Given the description of an element on the screen output the (x, y) to click on. 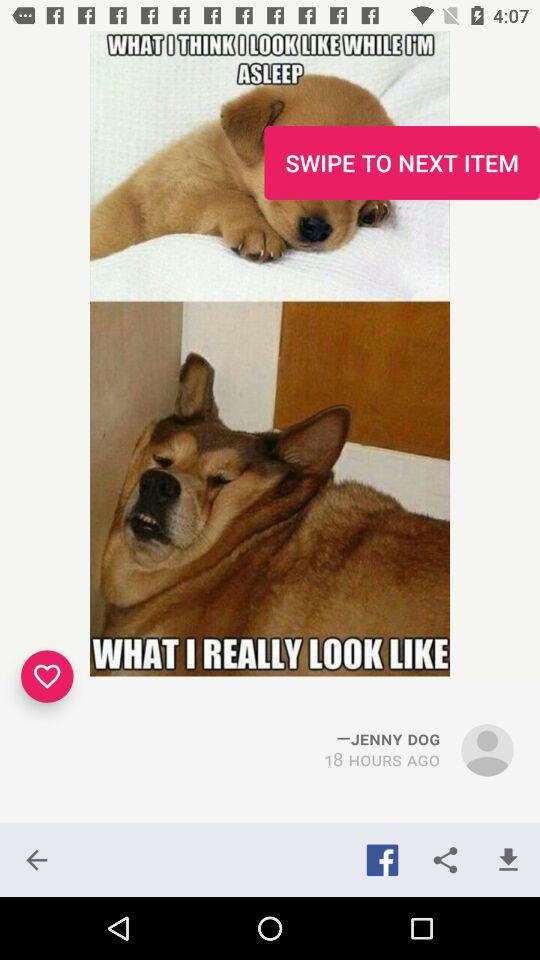
add to favorite (47, 676)
